Given the description of an element on the screen output the (x, y) to click on. 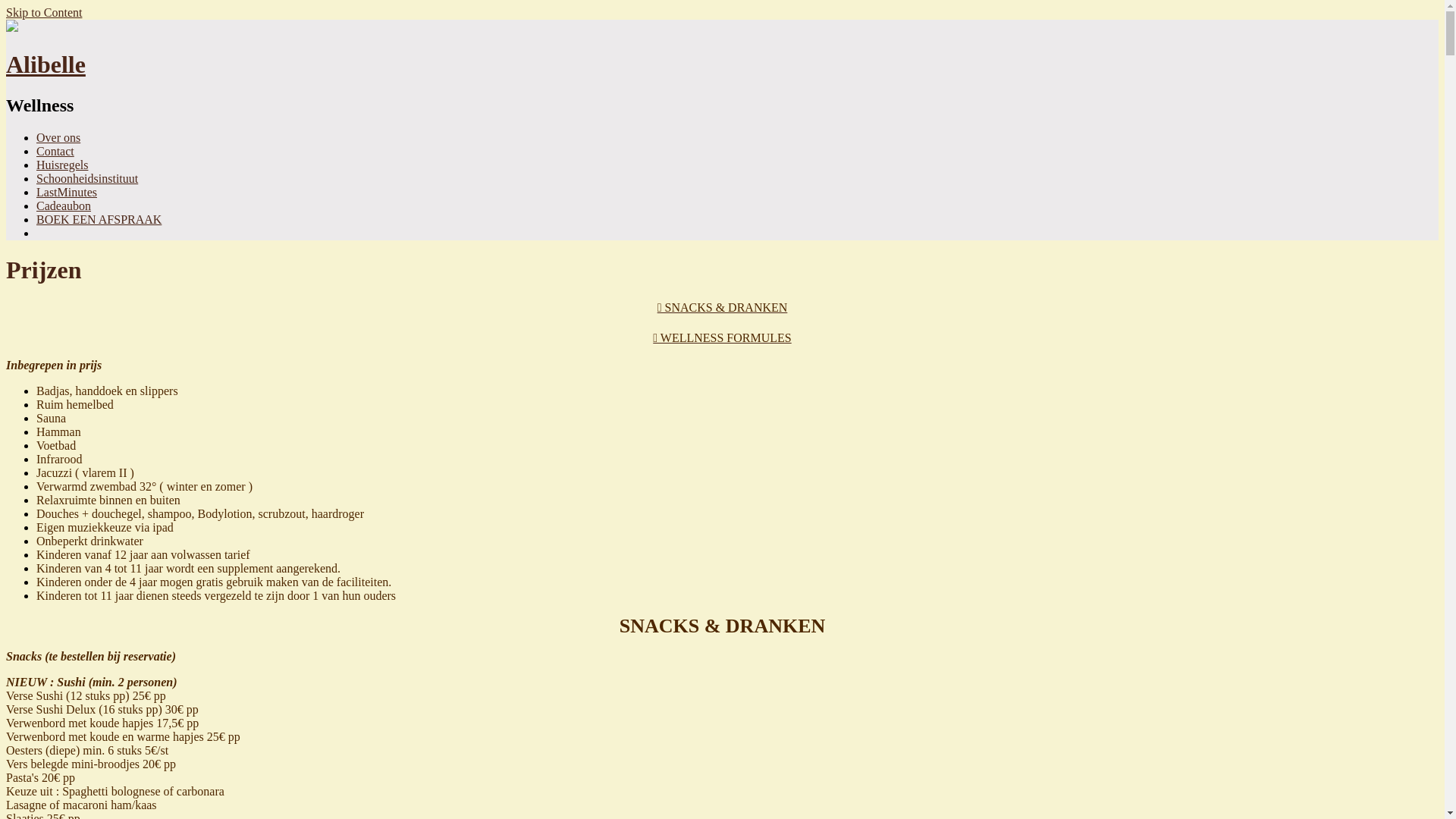
LastMinutes Element type: text (66, 191)
Over ons Element type: text (58, 137)
Alibelle Element type: text (722, 49)
Cadeaubon Element type: text (63, 205)
Schoonheidsinstituut Element type: text (87, 178)
BOEK EEN AFSPRAAK Element type: text (98, 219)
Huisregels Element type: text (61, 164)
Contact Element type: text (55, 150)
Skip to Content Element type: text (43, 12)
